Given the description of an element on the screen output the (x, y) to click on. 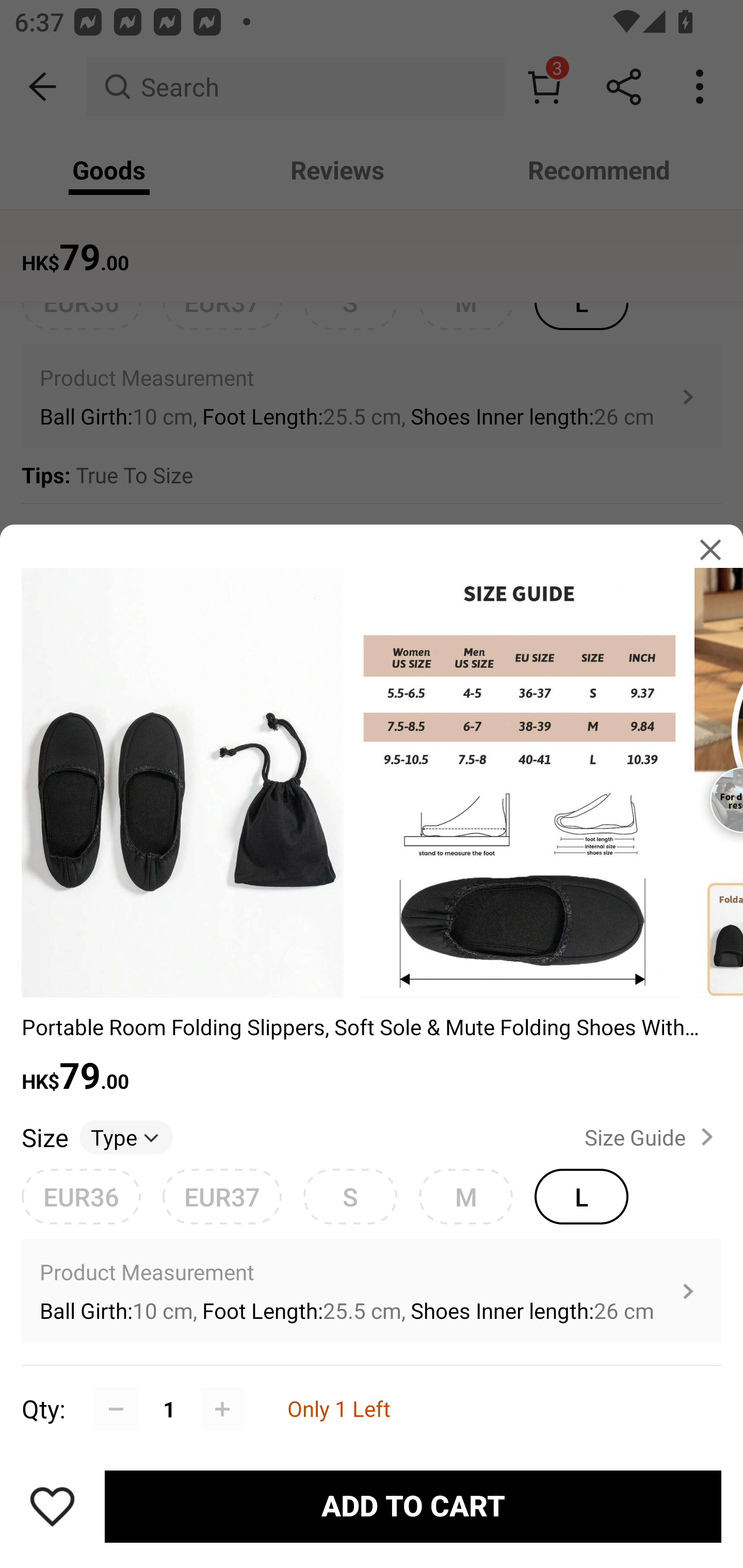
Size (44, 1136)
Type (126, 1136)
Size Guide (652, 1137)
EUR36 (81, 1196)
EUR37 (221, 1196)
S (350, 1196)
M (465, 1196)
L Lselected option (581, 1196)
ADD TO CART (412, 1506)
Save (52, 1505)
